Given the description of an element on the screen output the (x, y) to click on. 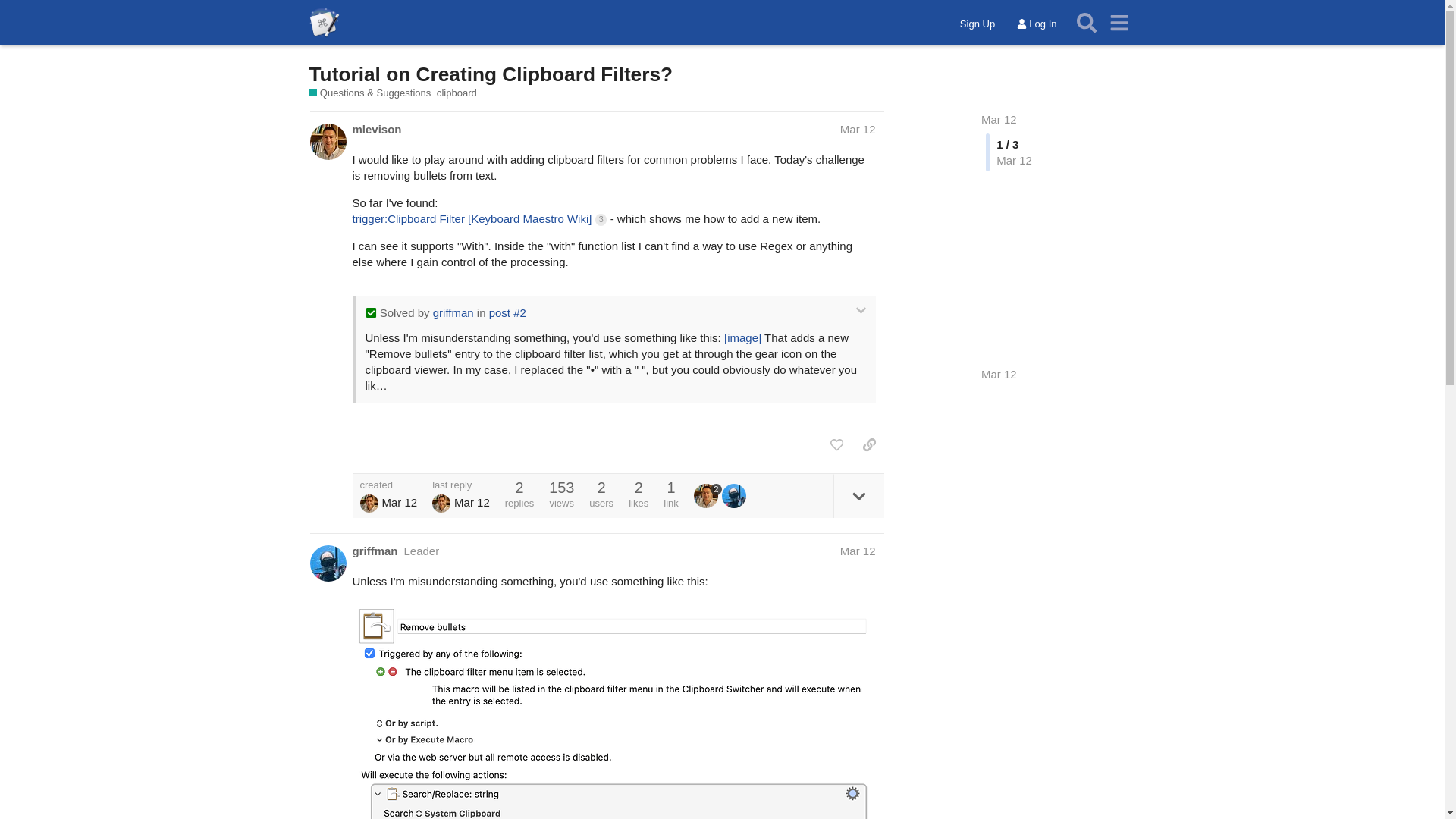
image (742, 337)
Log In (1036, 24)
Mar 12, 2024 5:43 am (998, 373)
2 (708, 495)
Mar 12, 2024 4:23 am (398, 502)
copy a link to this post to clipboard (869, 444)
Post date (858, 128)
menu (1119, 22)
mlevison (376, 129)
expand topic details (857, 495)
like this post (836, 444)
Mar 12 (998, 119)
Mark Levison (440, 503)
Tutorial on Creating Clipboard Filters? (490, 74)
Mar 12 (858, 128)
